Given the description of an element on the screen output the (x, y) to click on. 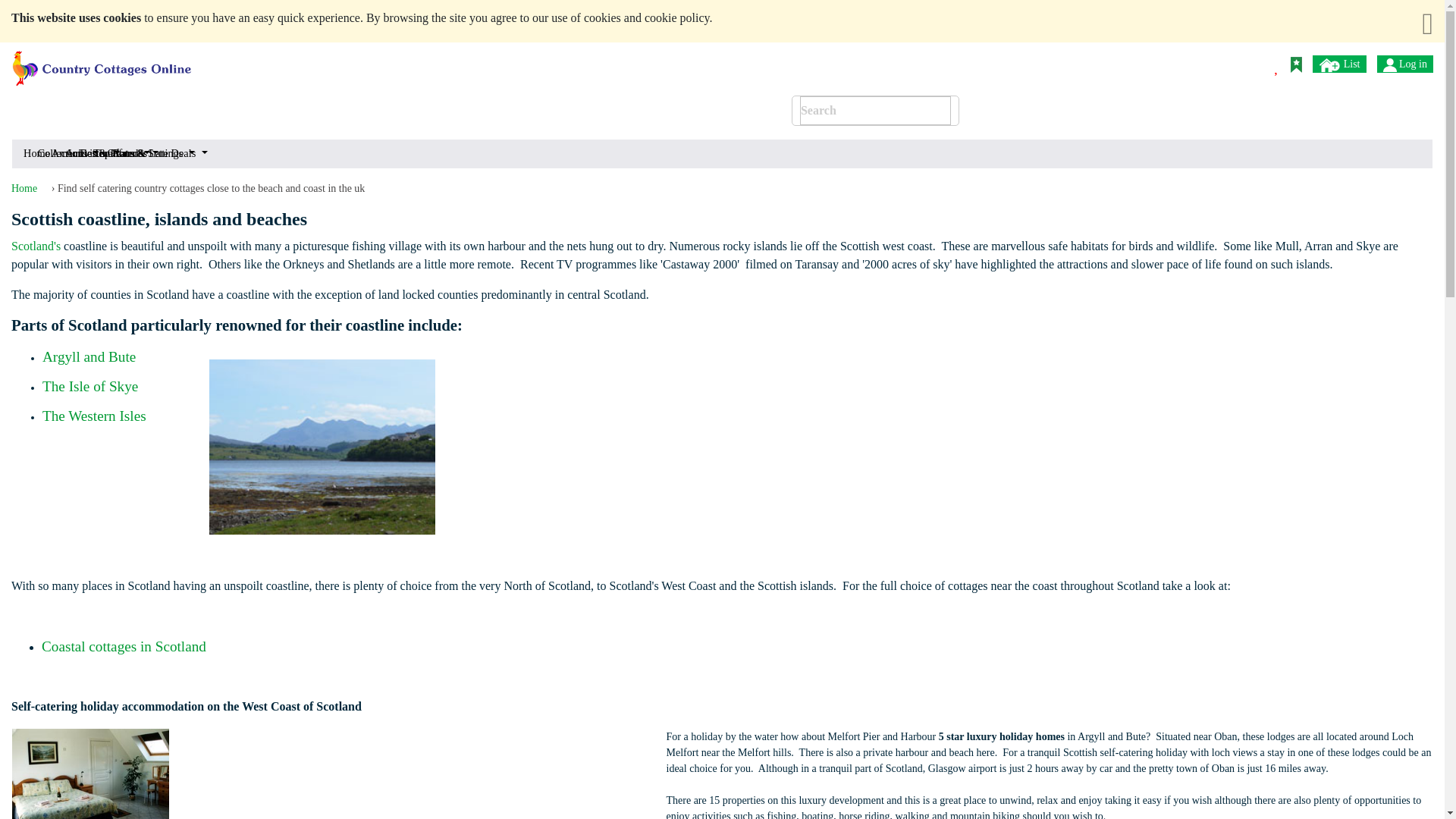
Log in (1404, 63)
search (937, 62)
search (937, 62)
country cottages online (102, 62)
list your property (1329, 64)
List (1339, 63)
Log in (1389, 65)
